Given the description of an element on the screen output the (x, y) to click on. 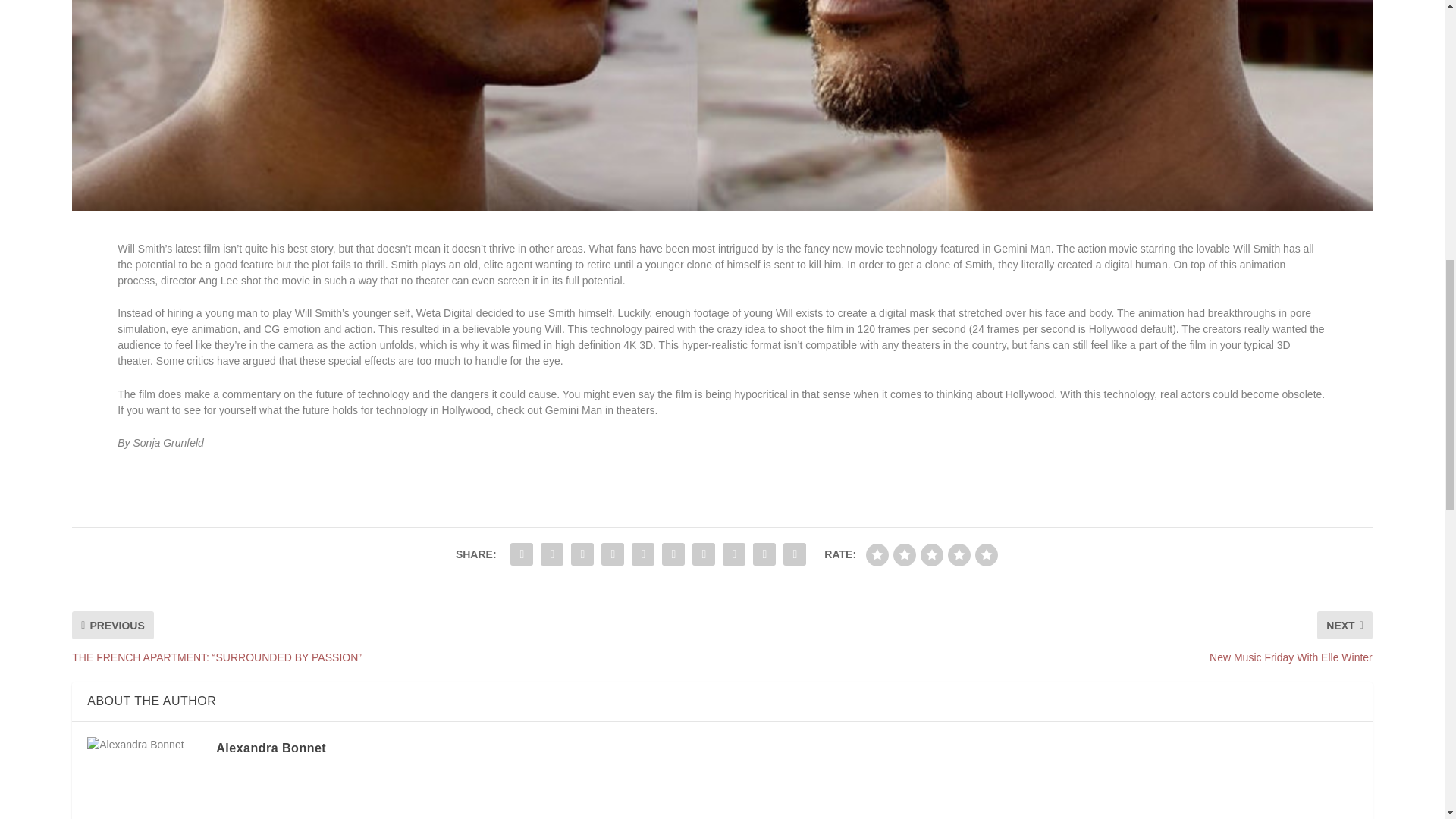
Share "Gemini Man Is A Step Forward In Technology" via Email (763, 553)
bad (877, 554)
poor (904, 554)
Share "Gemini Man Is A Step Forward In Technology" via Print (793, 553)
Alexandra Bonnet (270, 748)
